Given the description of an element on the screen output the (x, y) to click on. 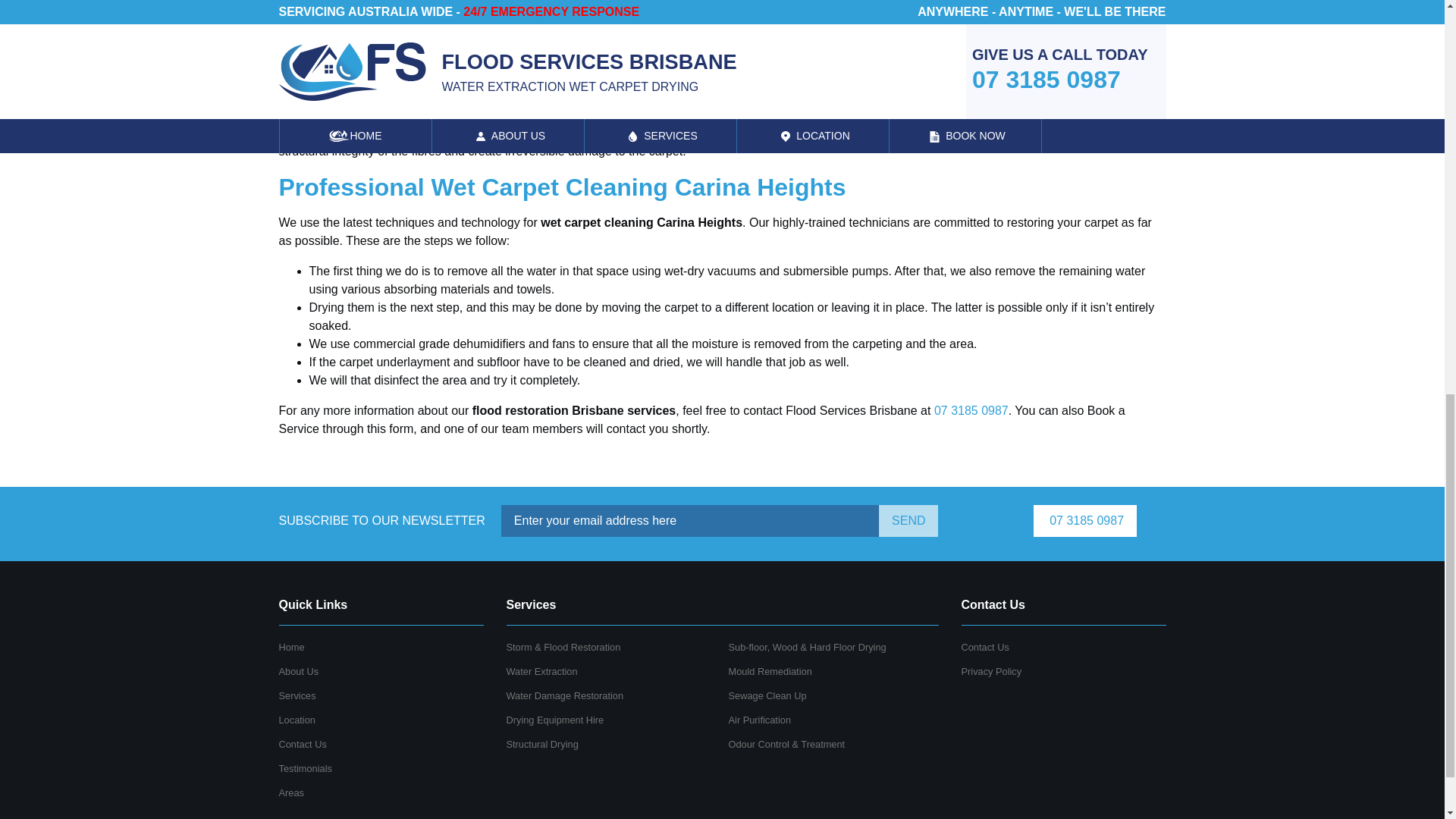
07 3185 0987 (971, 410)
Home (291, 646)
About Us (298, 671)
07 3185 0987 (971, 410)
SEND (908, 521)
07 3185 0987 (1085, 521)
